Given the description of an element on the screen output the (x, y) to click on. 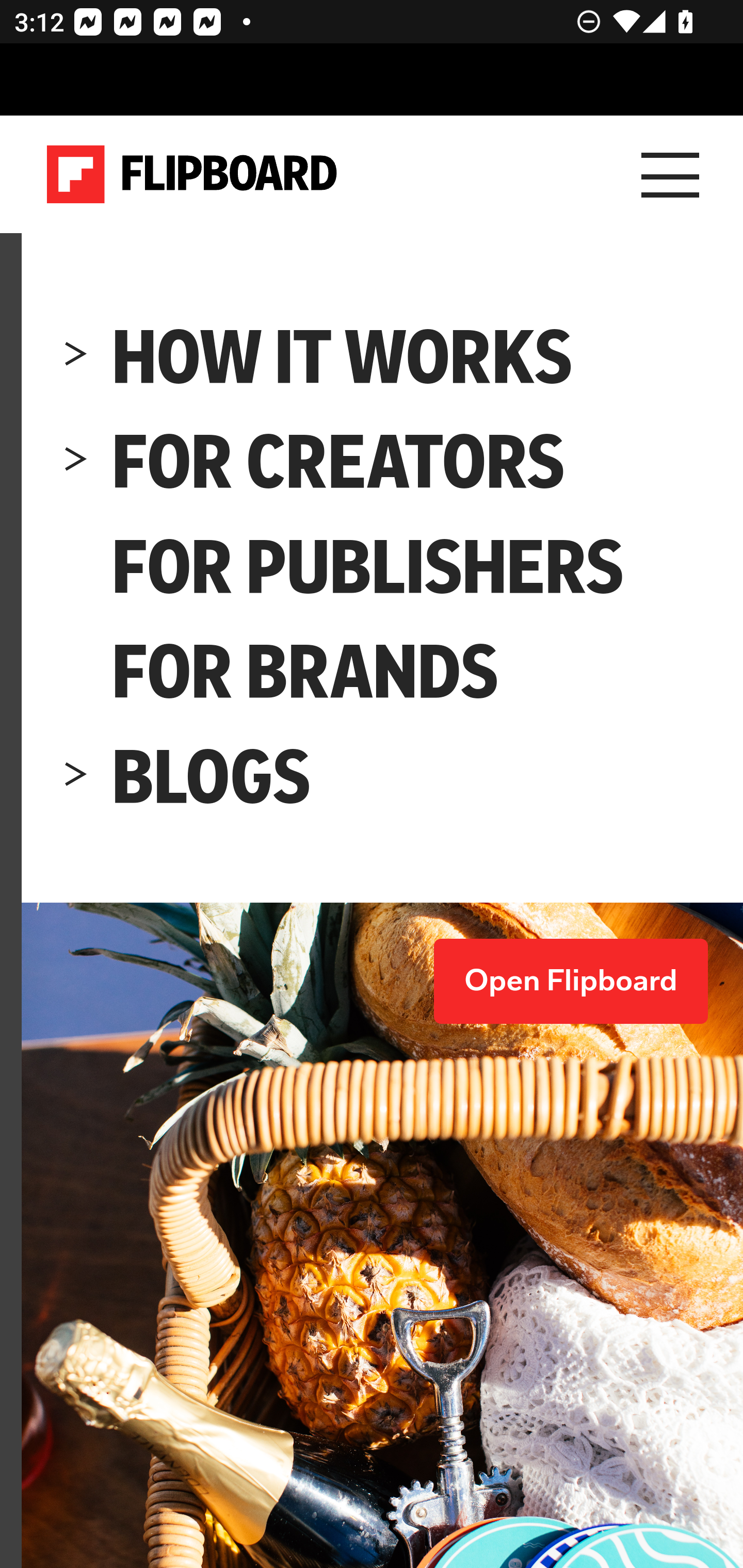
Flipboard Logo (192, 174)
HOW IT WORKS (343, 357)
 (76, 357)
FOR CREATORS (339, 462)
 (76, 462)
FOR PUBLISHERS (368, 568)
 (76, 568)
FOR BRANDS (306, 673)
 (76, 674)
BLOGS (212, 778)
 (76, 779)
Open Flipboard (571, 982)
